Given the description of an element on the screen output the (x, y) to click on. 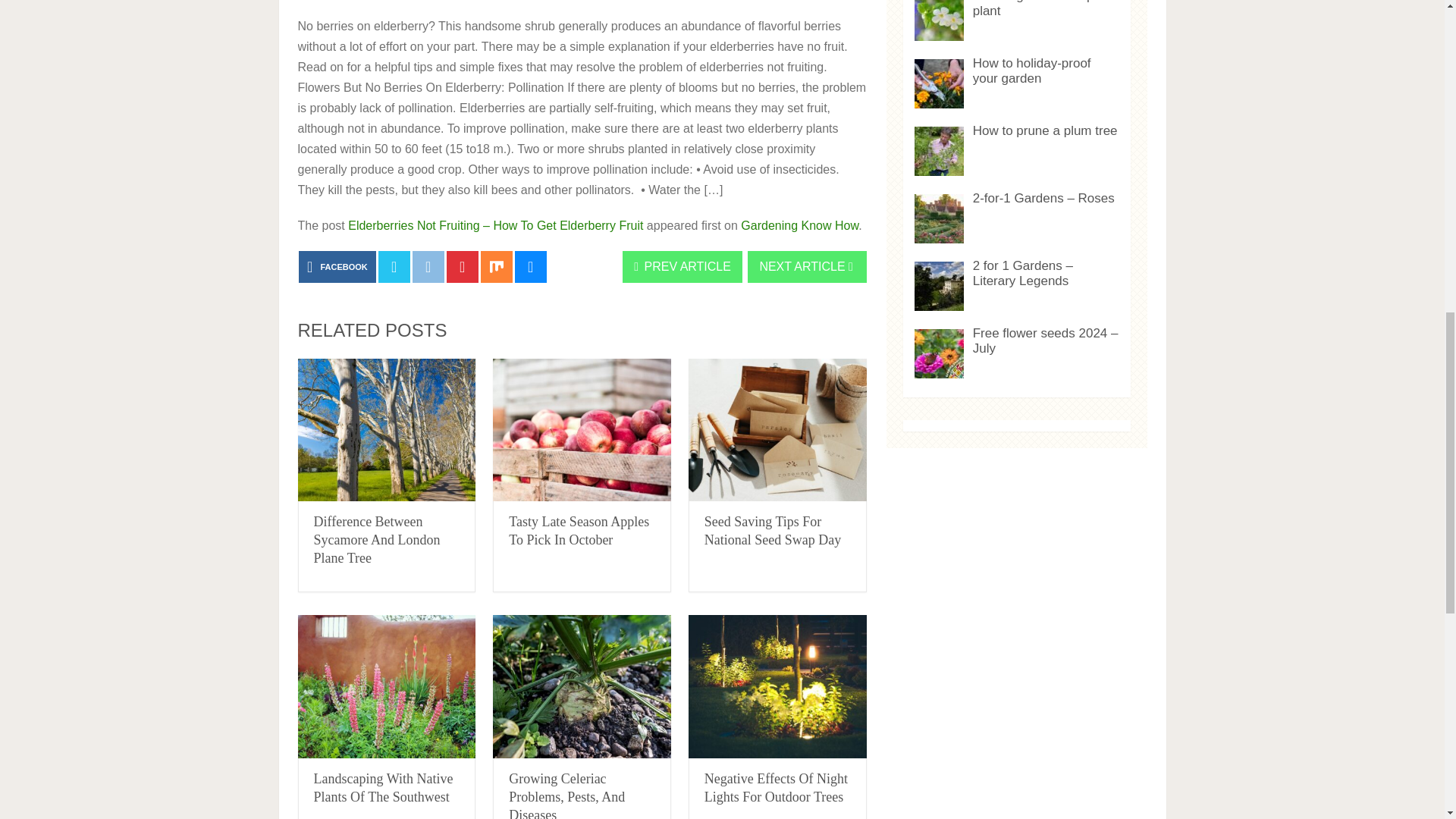
Difference Between Sycamore And London Plane Tree (377, 539)
FACEBOOK (336, 266)
PREV ARTICLE (682, 266)
Difference Between Sycamore And London Plane Tree (386, 430)
Gardening Know How (800, 225)
NEXT ARTICLE (807, 266)
Difference Between Sycamore And London Plane Tree (377, 539)
